Given the description of an element on the screen output the (x, y) to click on. 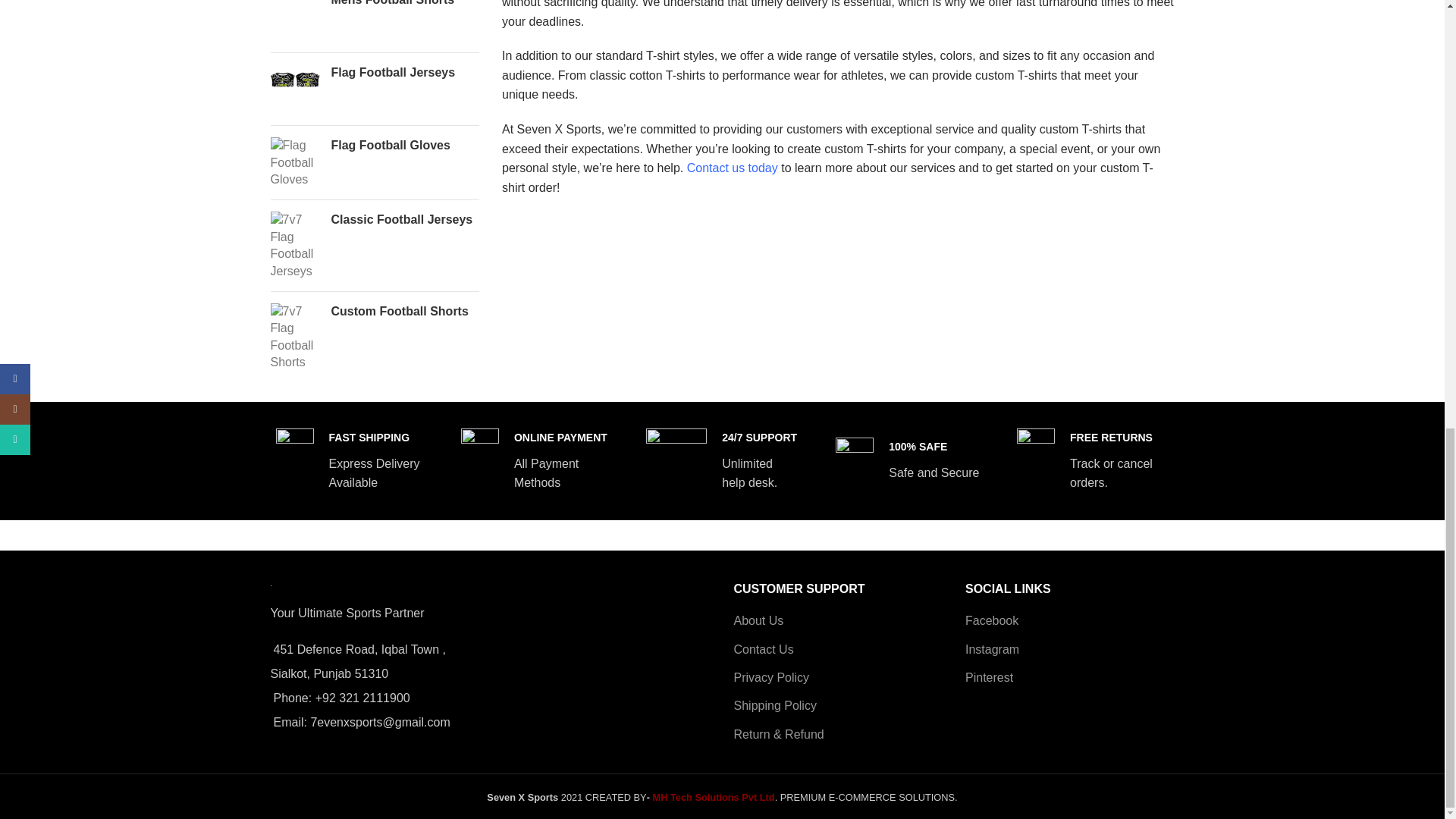
Classic Football Jerseys (293, 245)
Custom Football Shorts (404, 311)
Classic Football Jerseys (404, 219)
Flag Football Gloves (293, 162)
Flag Football Jerseys (404, 72)
Custom Football Shorts (293, 337)
Flag Football Jerseys (293, 88)
Mens Football Shorts (404, 4)
Flag Football Gloves (404, 145)
Mens Football Shorts (293, 20)
